Given the description of an element on the screen output the (x, y) to click on. 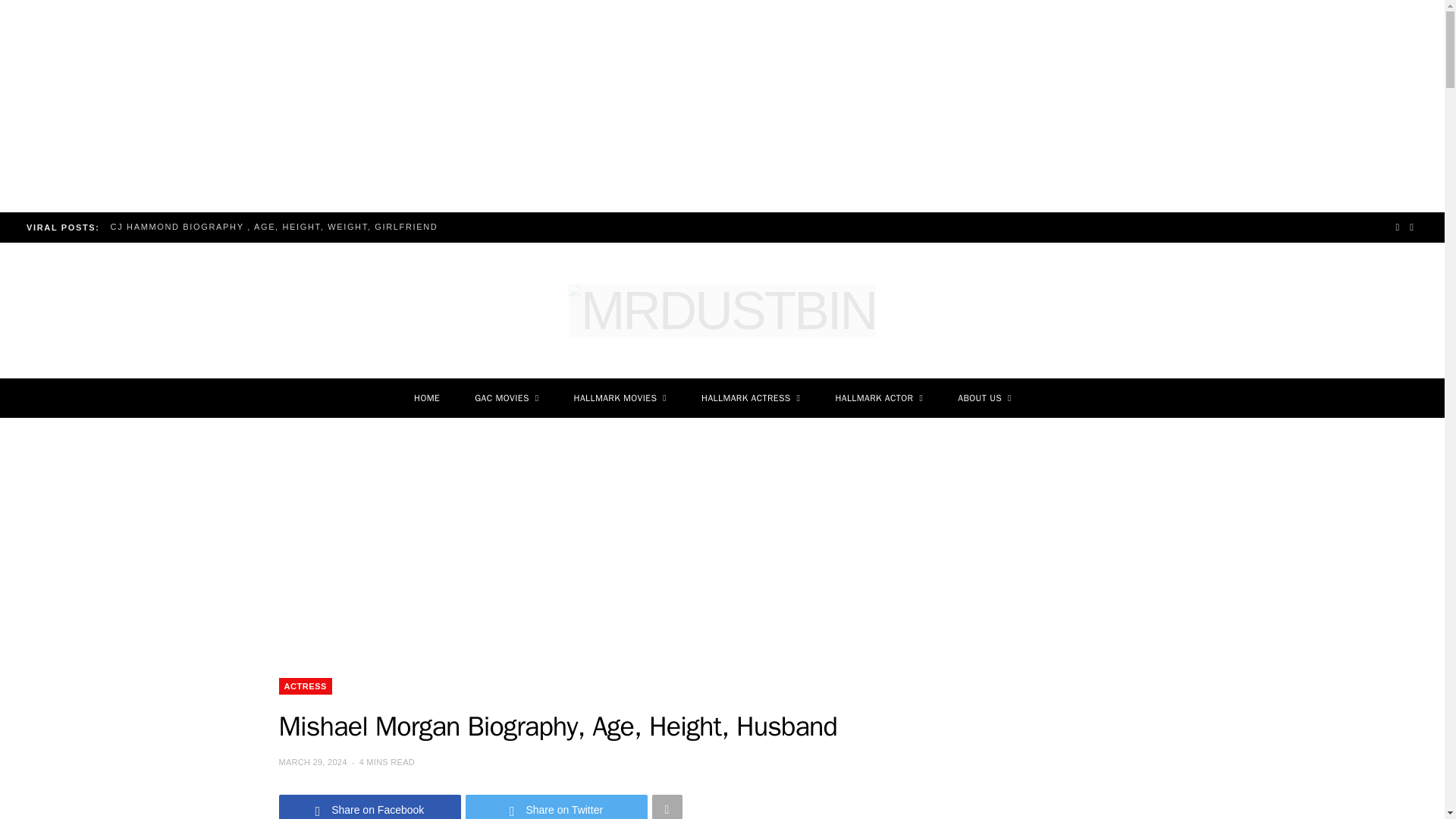
Share on Facebook (370, 806)
MARCH 29, 2024 (314, 761)
Share on Twitter (556, 806)
Cj Hammond Biography , Age, Height, Weight, Girlfriend (277, 226)
HALLMARK ACTOR (878, 397)
ACTRESS (305, 686)
mrDustBin (722, 310)
GAC MOVIES (506, 397)
HALLMARK MOVIES (619, 397)
HALLMARK ACTRESS (750, 397)
